Given the description of an element on the screen output the (x, y) to click on. 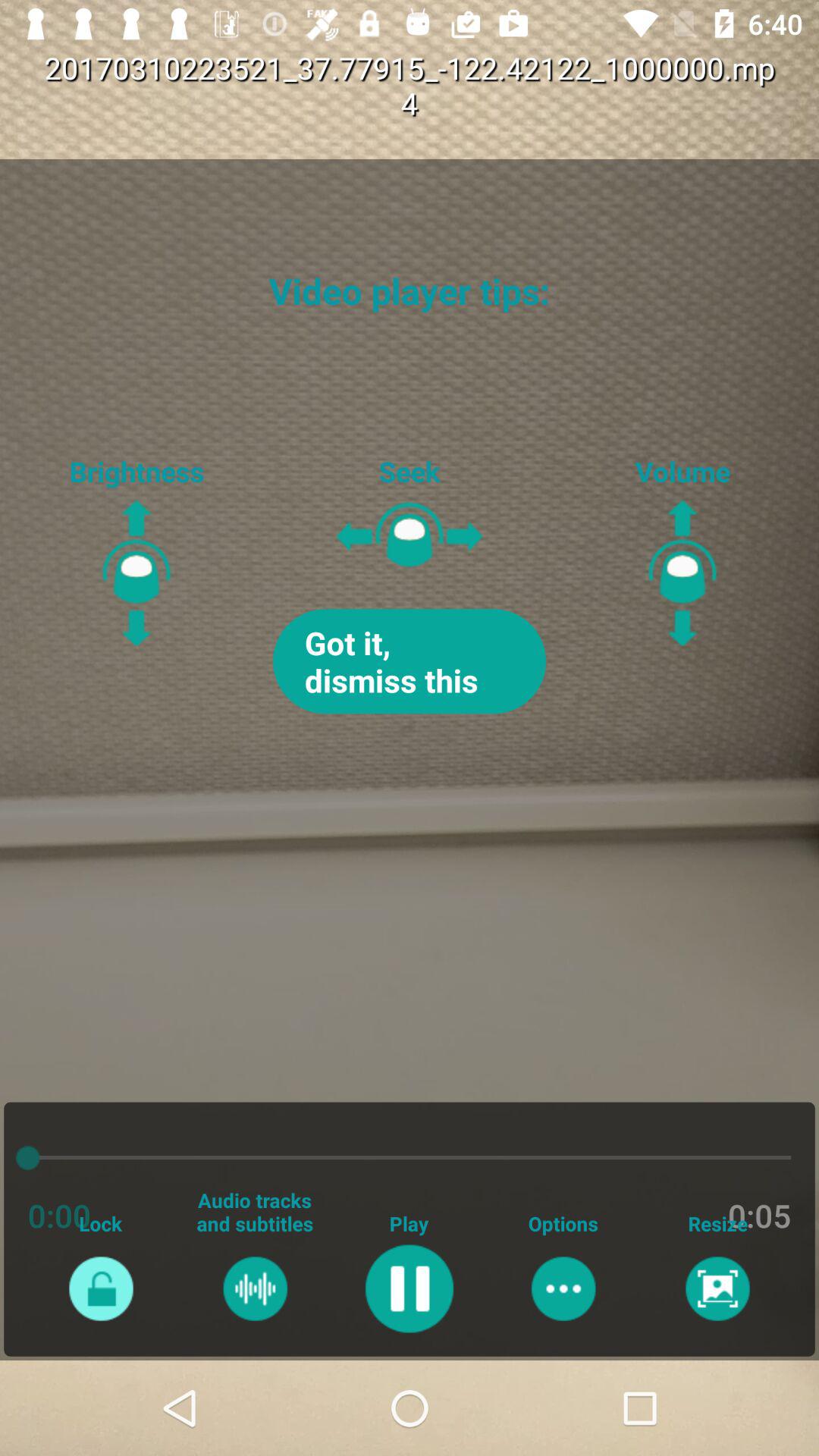
view options (563, 1288)
